Given the description of an element on the screen output the (x, y) to click on. 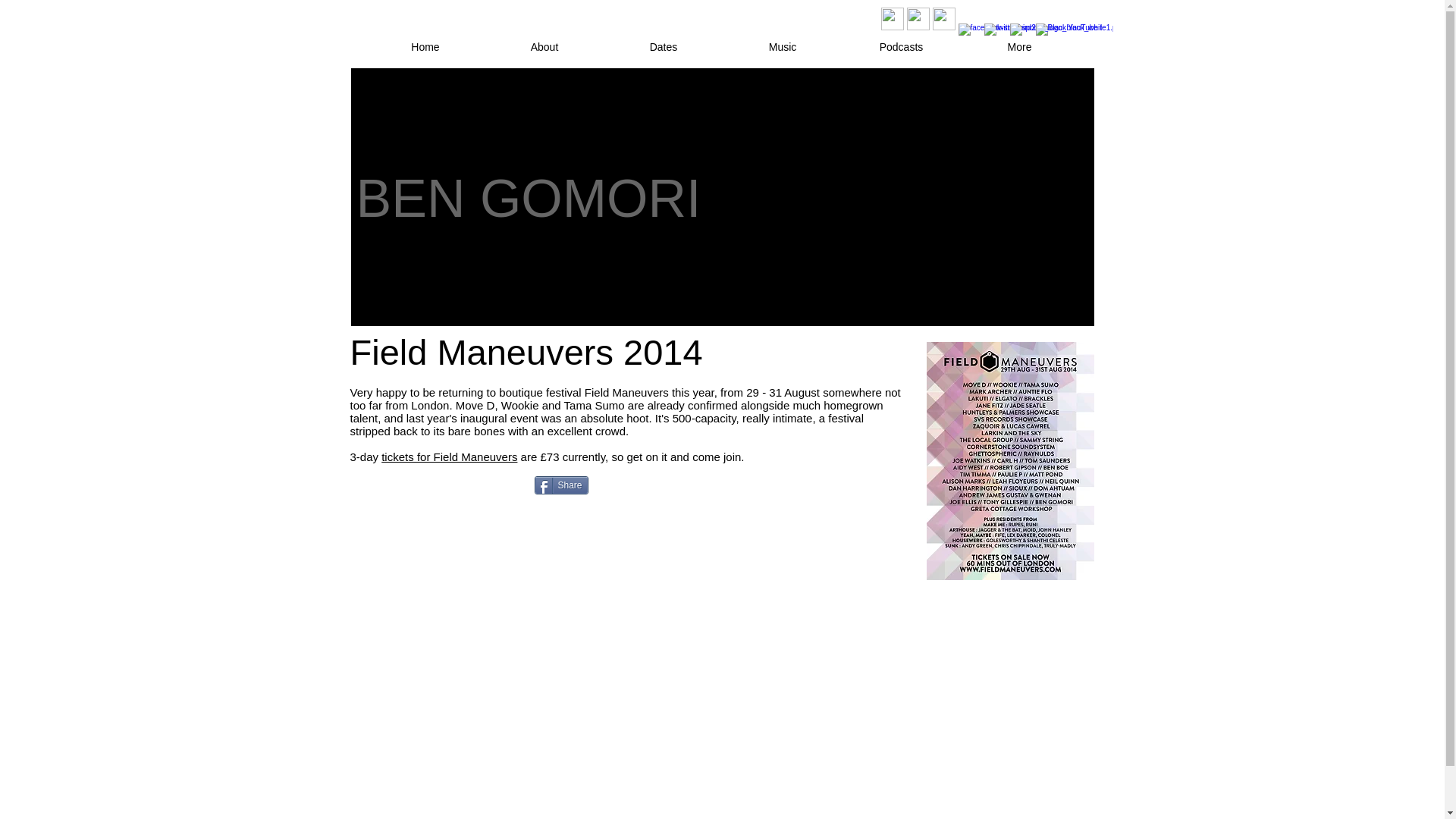
About (544, 47)
Podcasts (900, 47)
Twitter Tweet (646, 483)
Music (783, 47)
Share (561, 484)
Home (424, 47)
Share (561, 484)
Facebook Like (446, 488)
tickets for Field Maneuvers (448, 456)
Dates (663, 47)
